Given the description of an element on the screen output the (x, y) to click on. 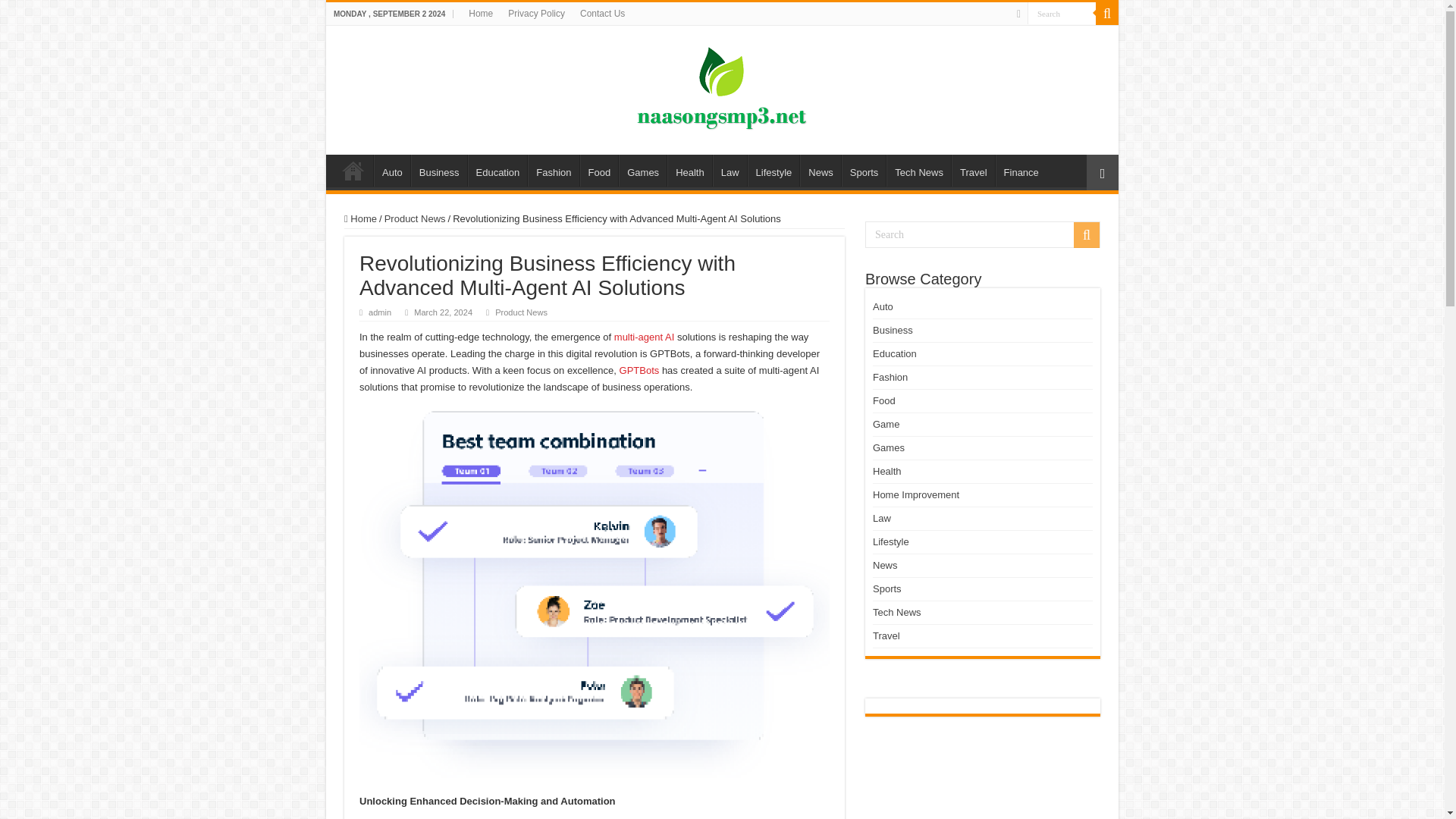
Finance (1020, 170)
Travel (973, 170)
News (820, 170)
Search (982, 234)
Search (1107, 13)
Search (1061, 13)
Home (352, 170)
Search (1061, 13)
Lifestyle (773, 170)
Auto (392, 170)
